Given the description of an element on the screen output the (x, y) to click on. 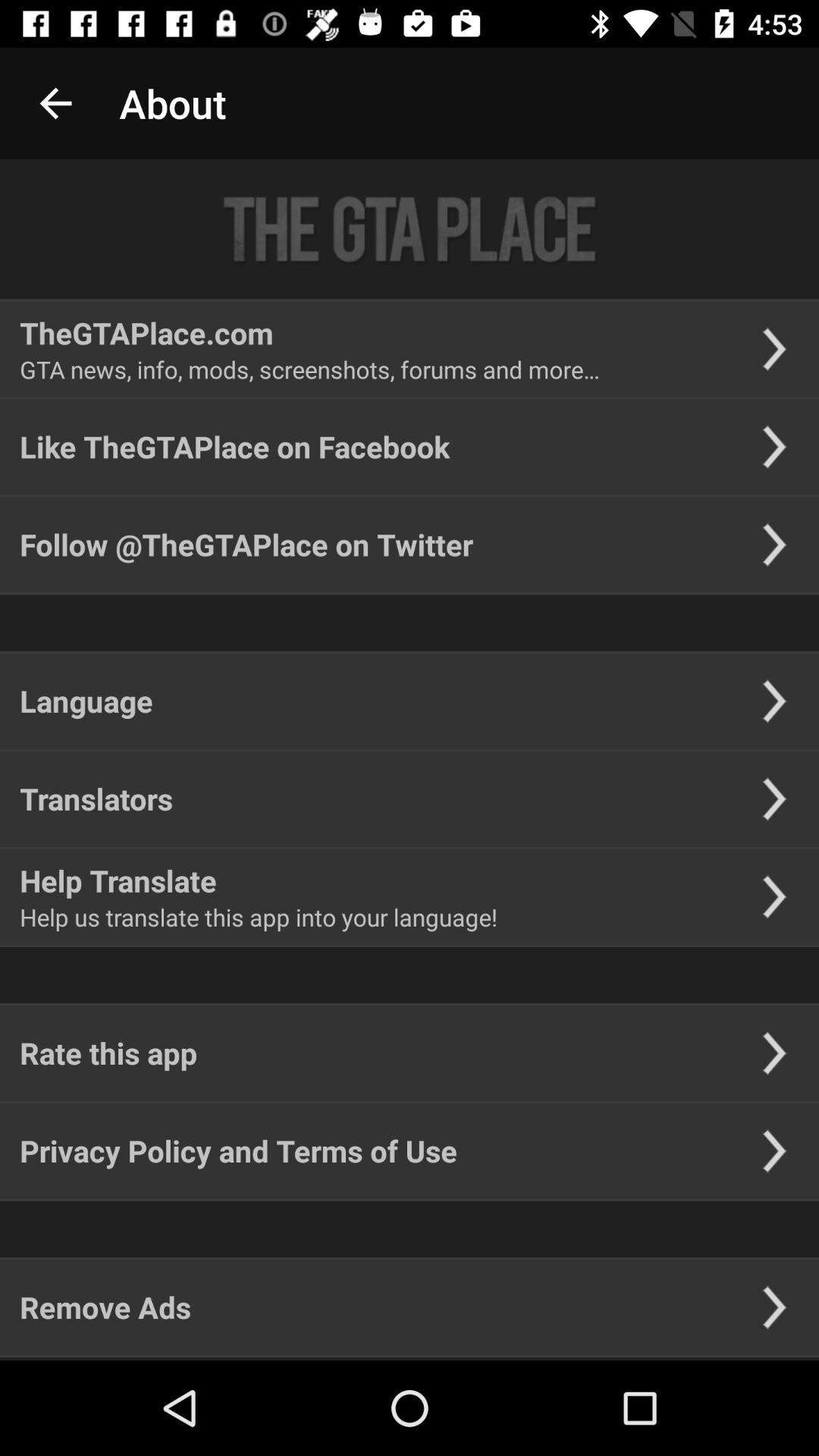
scroll to the privacy policy and icon (238, 1150)
